Given the description of an element on the screen output the (x, y) to click on. 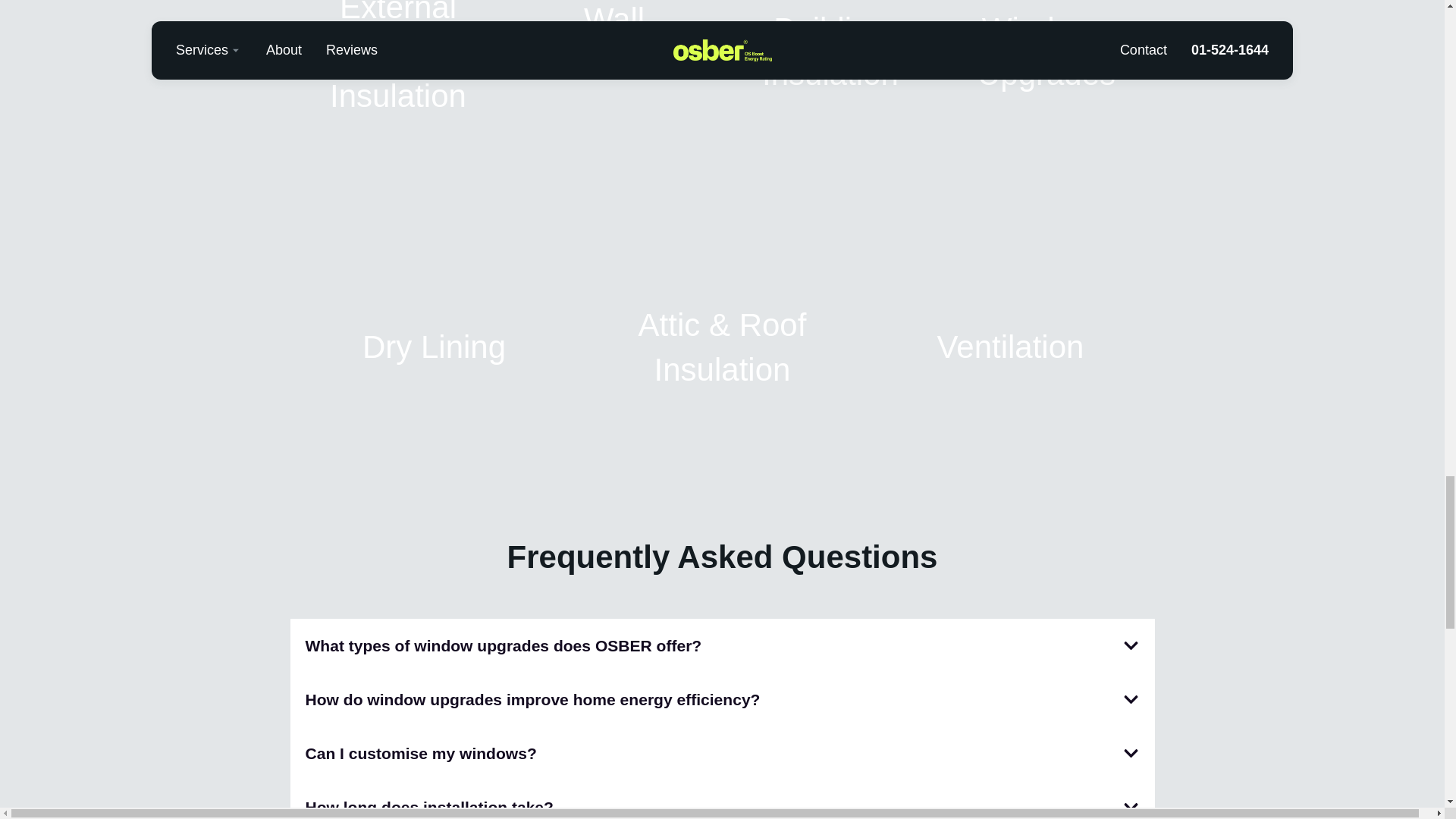
Can I customise my windows? (419, 753)
Ventilation (1010, 346)
How do window upgrades improve home energy efficiency? (532, 699)
Windows Upgrades (1045, 51)
Building Insulation (829, 51)
What types of window upgrades does OSBER offer? (502, 645)
External Wall Insulation (397, 57)
Dry Lining (433, 346)
How long does installation take? (428, 806)
Wall Insulation (614, 41)
